Given the description of an element on the screen output the (x, y) to click on. 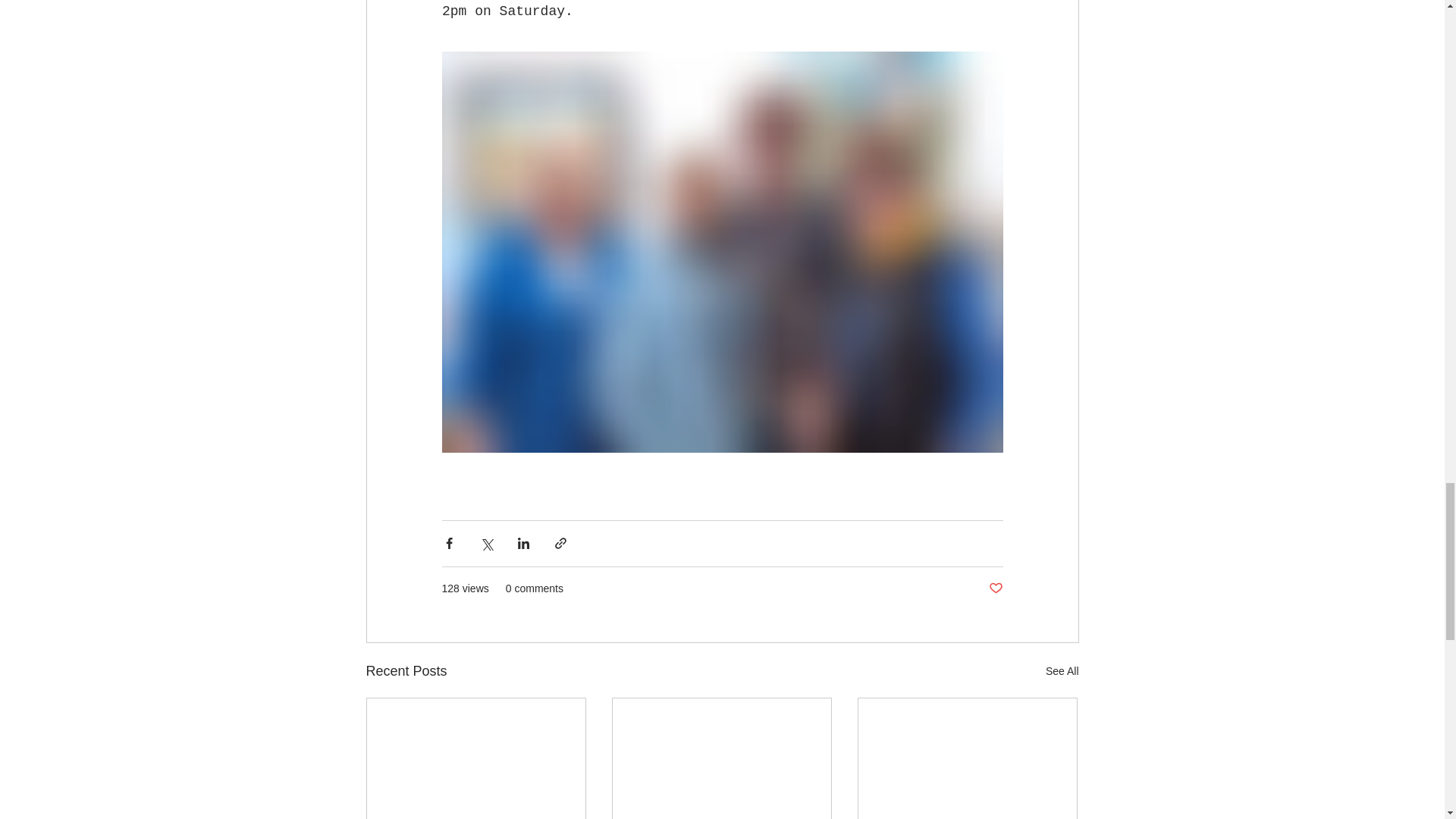
See All (1061, 671)
Post not marked as liked (995, 588)
